Given the description of an element on the screen output the (x, y) to click on. 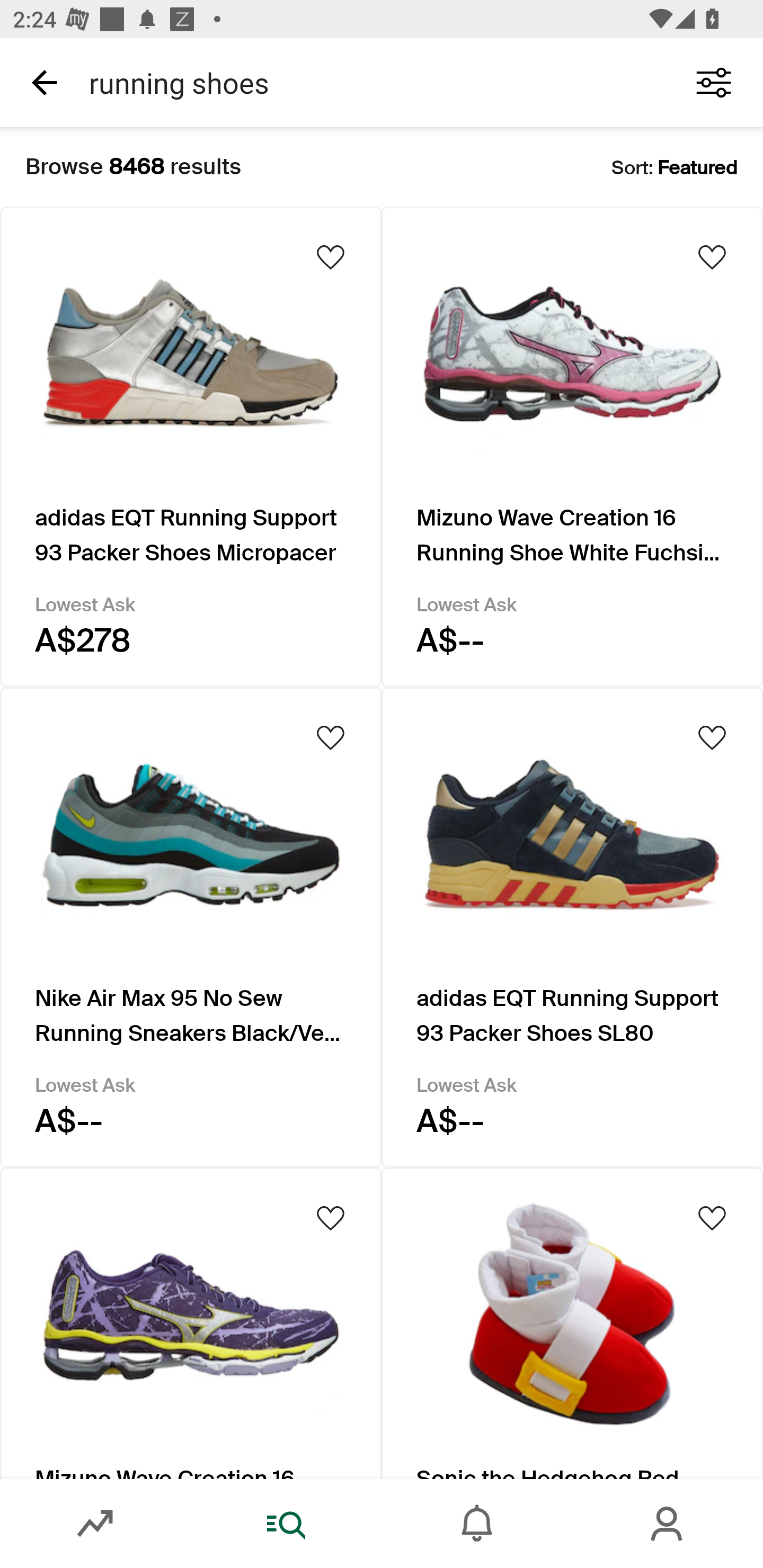
running shoes (370, 82)
Market (95, 1523)
Inbox (476, 1523)
Account (667, 1523)
